Given the description of an element on the screen output the (x, y) to click on. 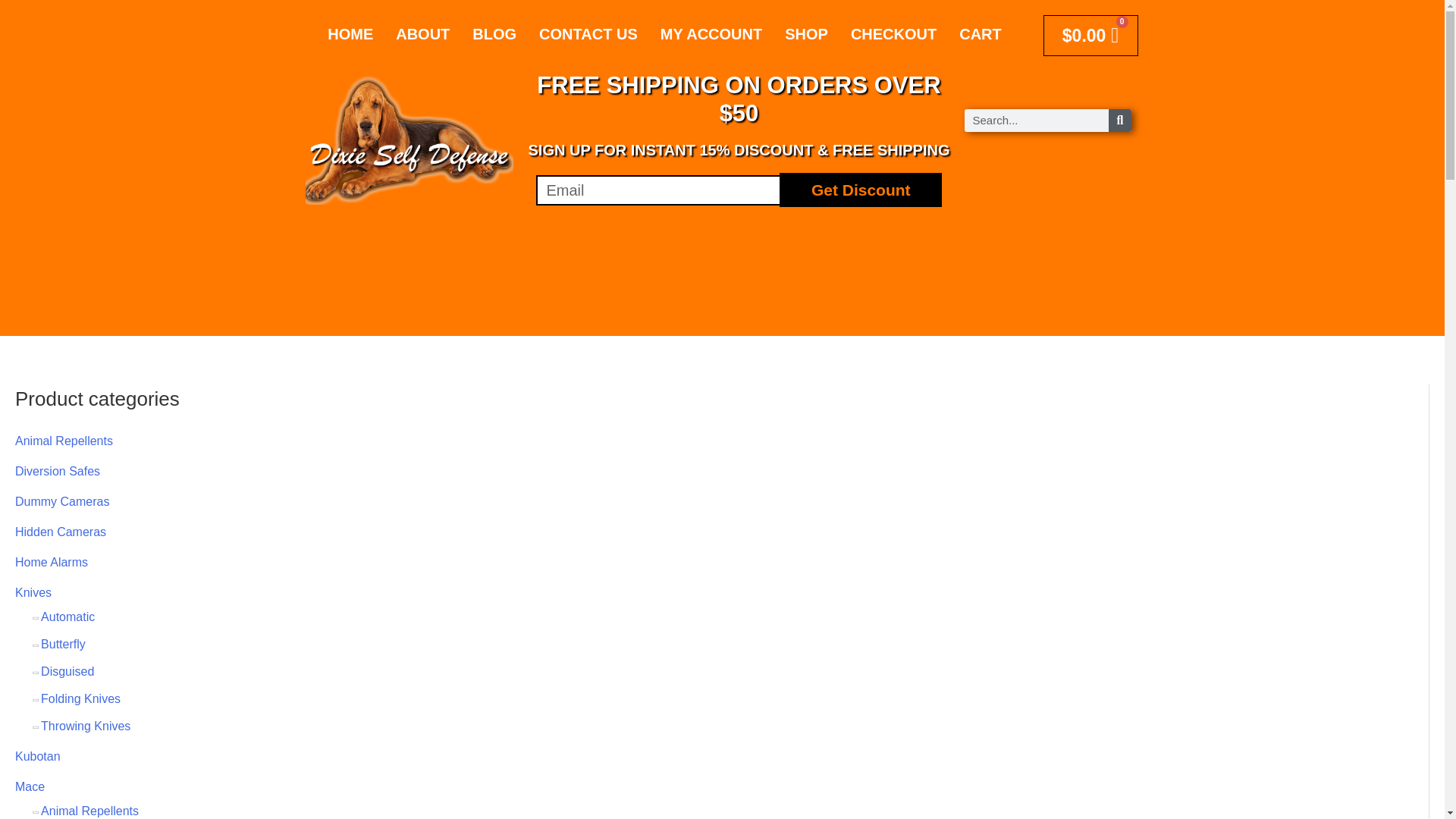
Kubotan (37, 756)
Mace (29, 786)
Throwing Knives (85, 725)
Get Discount (860, 189)
Dummy Cameras (61, 501)
SHOP (806, 34)
MY ACCOUNT (711, 34)
Diversion Safes (57, 471)
ABOUT (422, 34)
CHECKOUT (893, 34)
CART (980, 34)
Hidden Cameras (60, 531)
Butterfly (62, 644)
Animal Repellents (63, 440)
Folding Knives (80, 698)
